Given the description of an element on the screen output the (x, y) to click on. 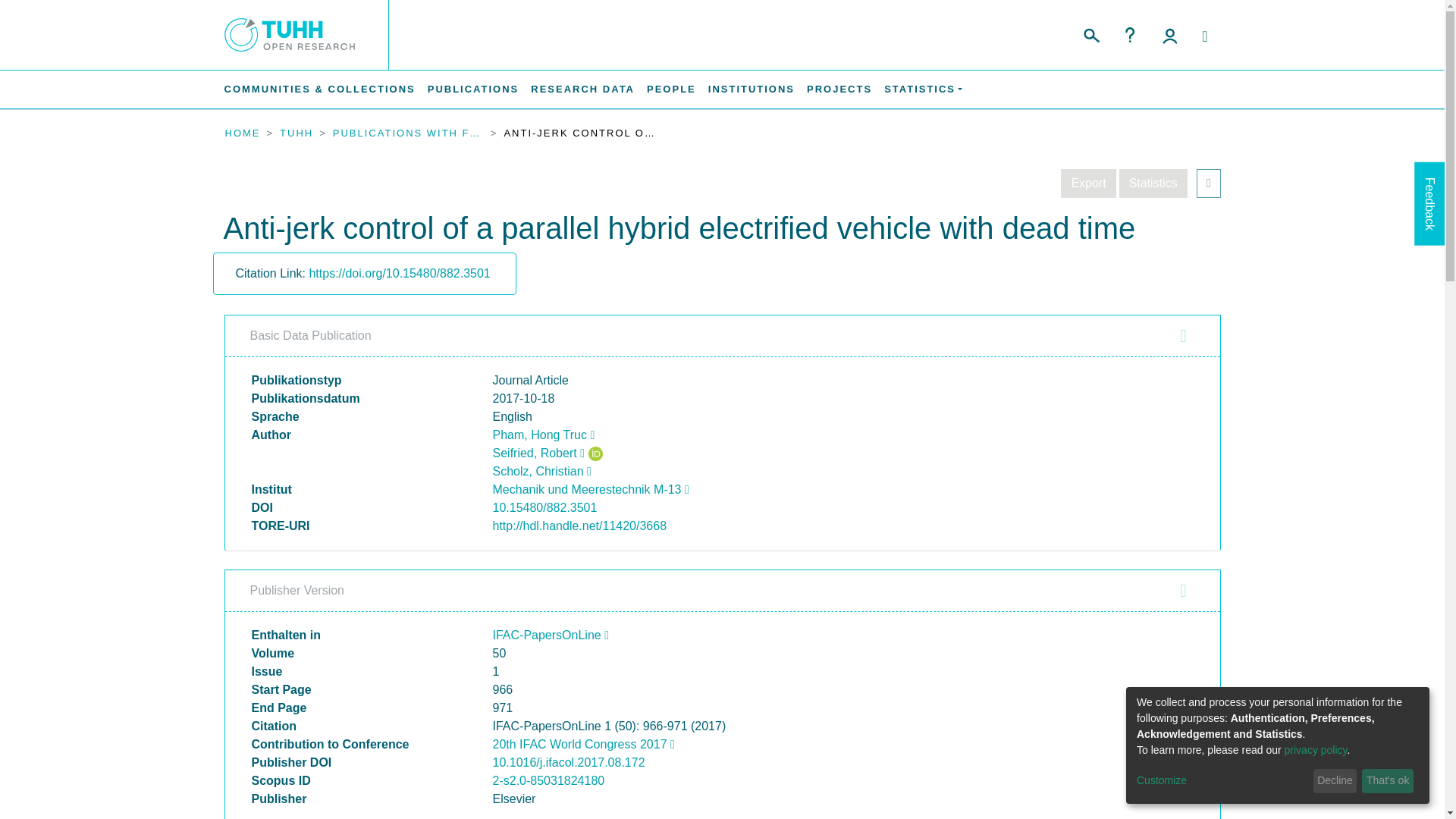
Help (1129, 34)
Scholz, Christian  (542, 471)
Log In (1168, 34)
STATISTICS (922, 89)
Seifried, Robert  (539, 452)
Export (1088, 183)
20th IFAC World Congress 2017  (584, 744)
Close section (1183, 335)
Mechanik und Meerestechnik M-13  (590, 489)
Projects (838, 89)
PUBLICATIONS WITH FULLTEXT (408, 133)
Close section (1183, 590)
Pham, Hong Truc  (544, 434)
Help (1129, 34)
PUBLICATIONS (473, 89)
